Given the description of an element on the screen output the (x, y) to click on. 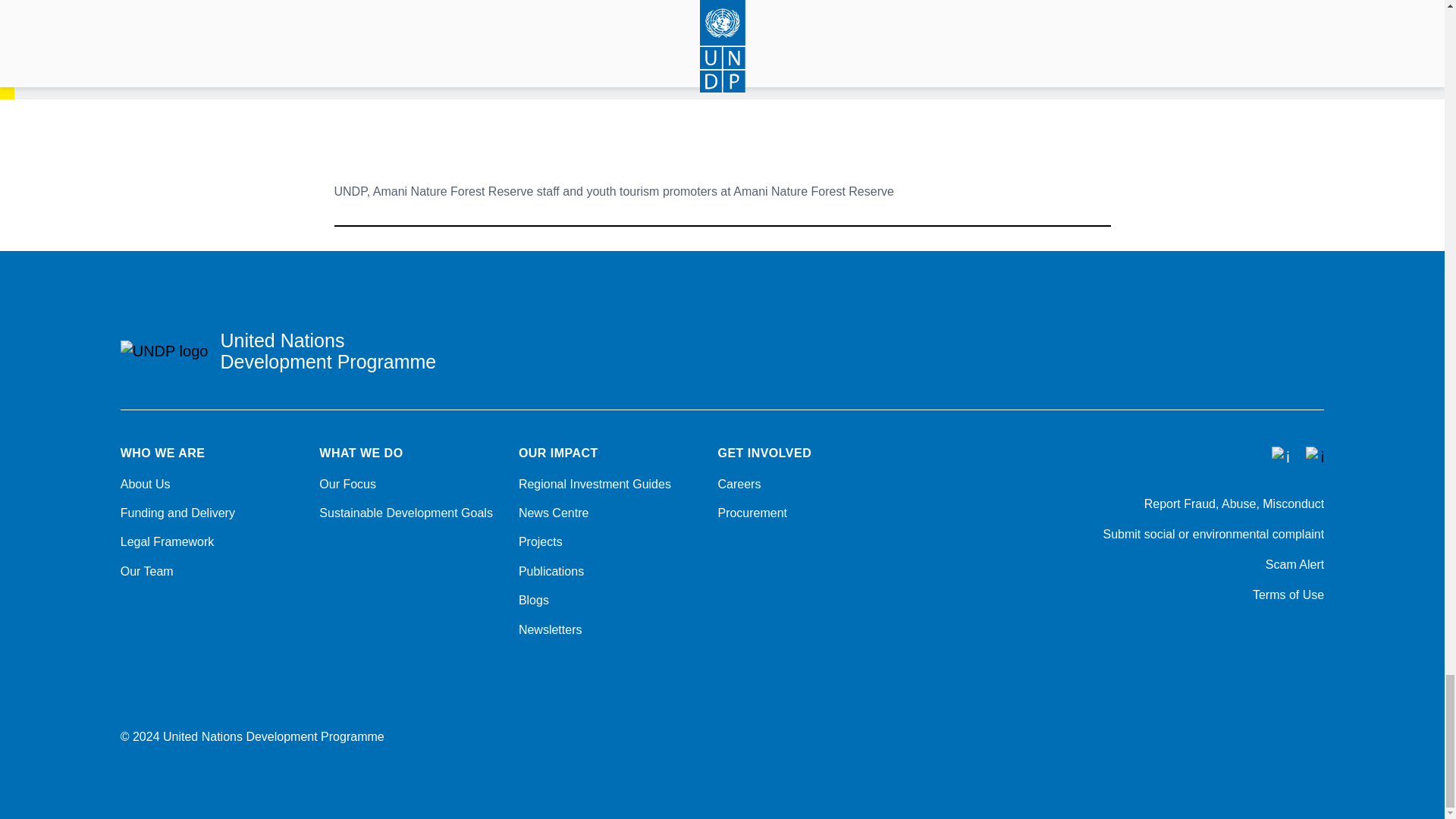
Blogs (609, 600)
Funding and Delivery (210, 513)
Twitter (1237, 635)
Sustainable Development Goals (409, 513)
Projects (609, 541)
LinkedIn (1315, 635)
Publications (609, 571)
Facebook (1198, 635)
Newsletters (609, 629)
WHAT WE DO (409, 453)
About Us (210, 484)
OUR IMPACT (609, 453)
Our Team (210, 571)
Our Focus (409, 484)
Regional Investment Guides (609, 484)
